Given the description of an element on the screen output the (x, y) to click on. 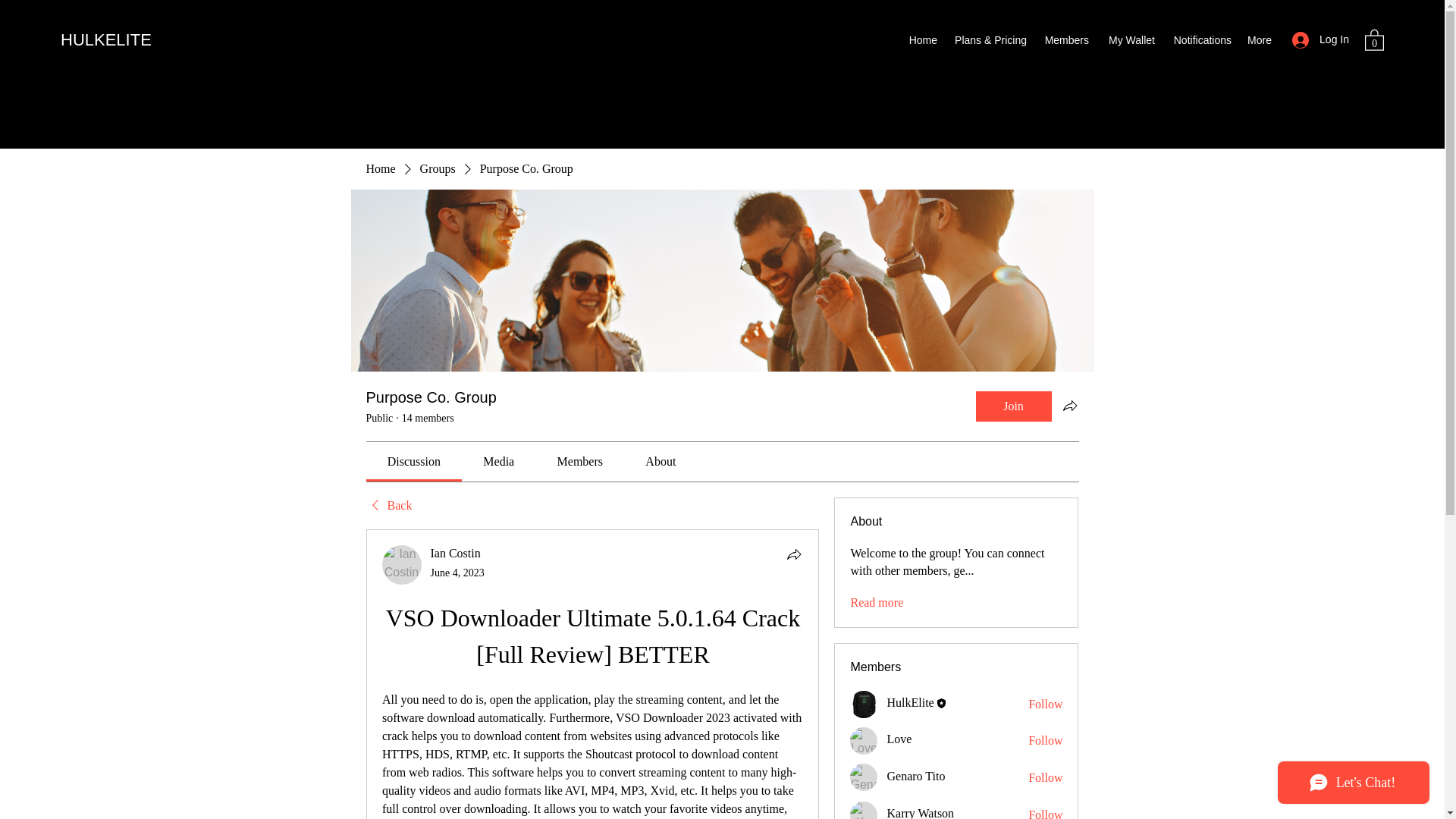
Members (1064, 39)
June 4, 2023 (457, 572)
Karry Watson (919, 812)
Back (388, 505)
Home (379, 168)
Follow (1044, 777)
Genaro Tito (863, 777)
Follow (1044, 812)
Read more (876, 602)
Ian Costin (401, 564)
Follow (1044, 704)
Karry Watson (863, 810)
HULKELITE (106, 39)
Love (863, 740)
Groups (437, 168)
